Given the description of an element on the screen output the (x, y) to click on. 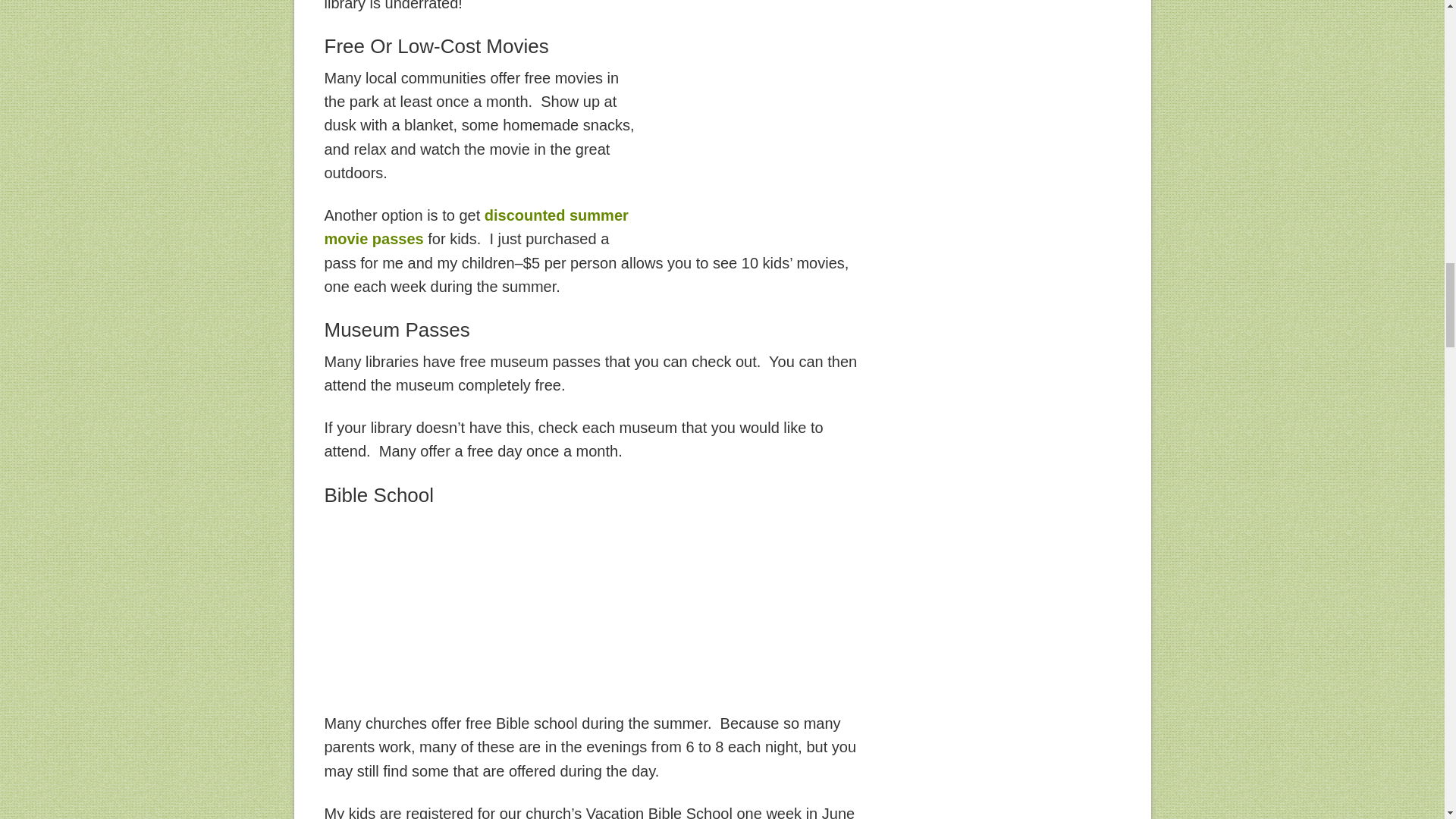
cheap summer fun with your kids - movies (763, 151)
